Given the description of an element on the screen output the (x, y) to click on. 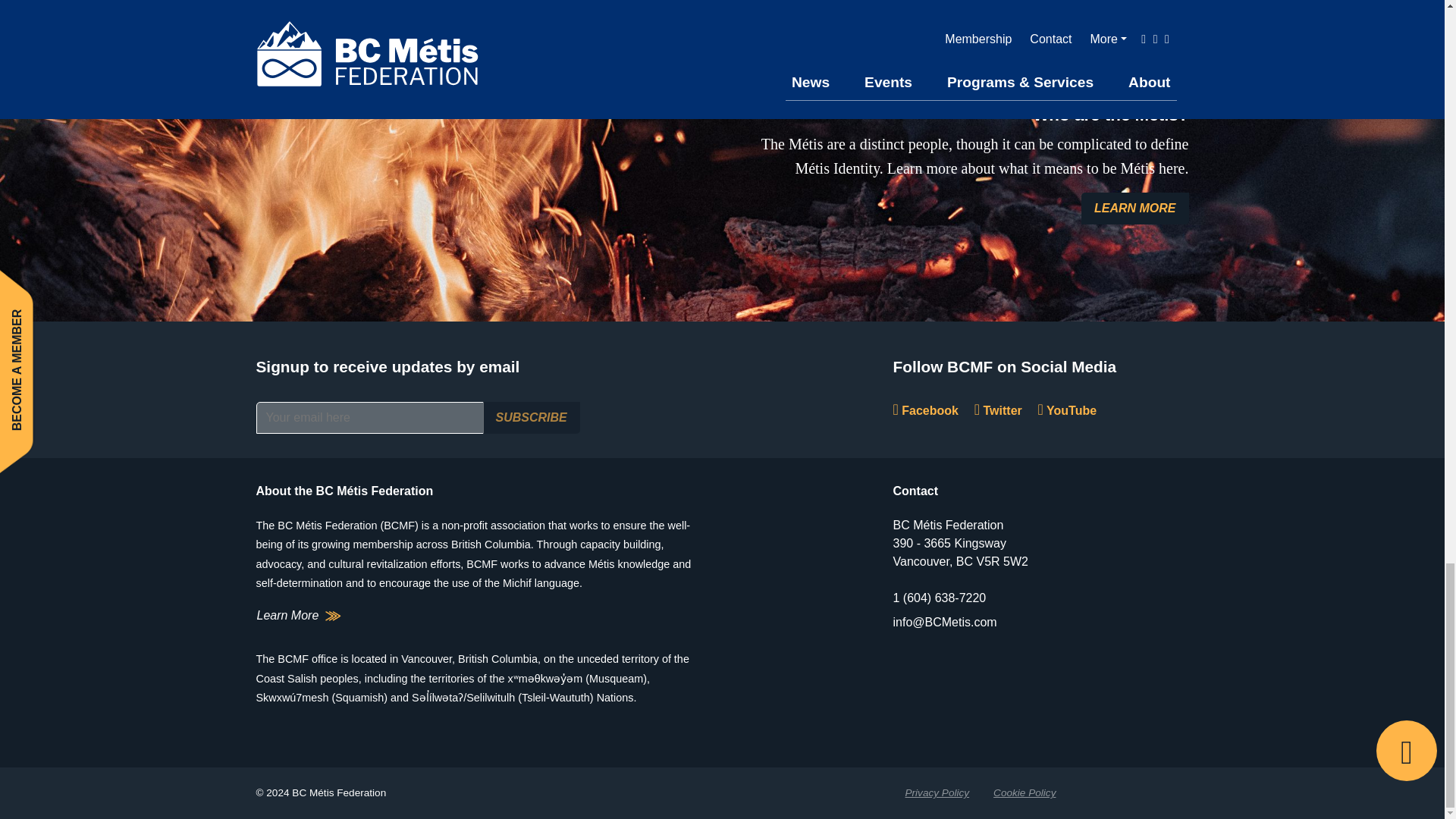
Privacy Policy (937, 792)
SUBSCRIBE (530, 418)
Cookie Policy (1024, 792)
YouTube (1067, 410)
Learn More   (299, 615)
LEARN MORE (1135, 208)
Twitter (998, 410)
Privacy Policy (937, 792)
Facebook (925, 410)
Cookie Policy (1024, 792)
